Given the description of an element on the screen output the (x, y) to click on. 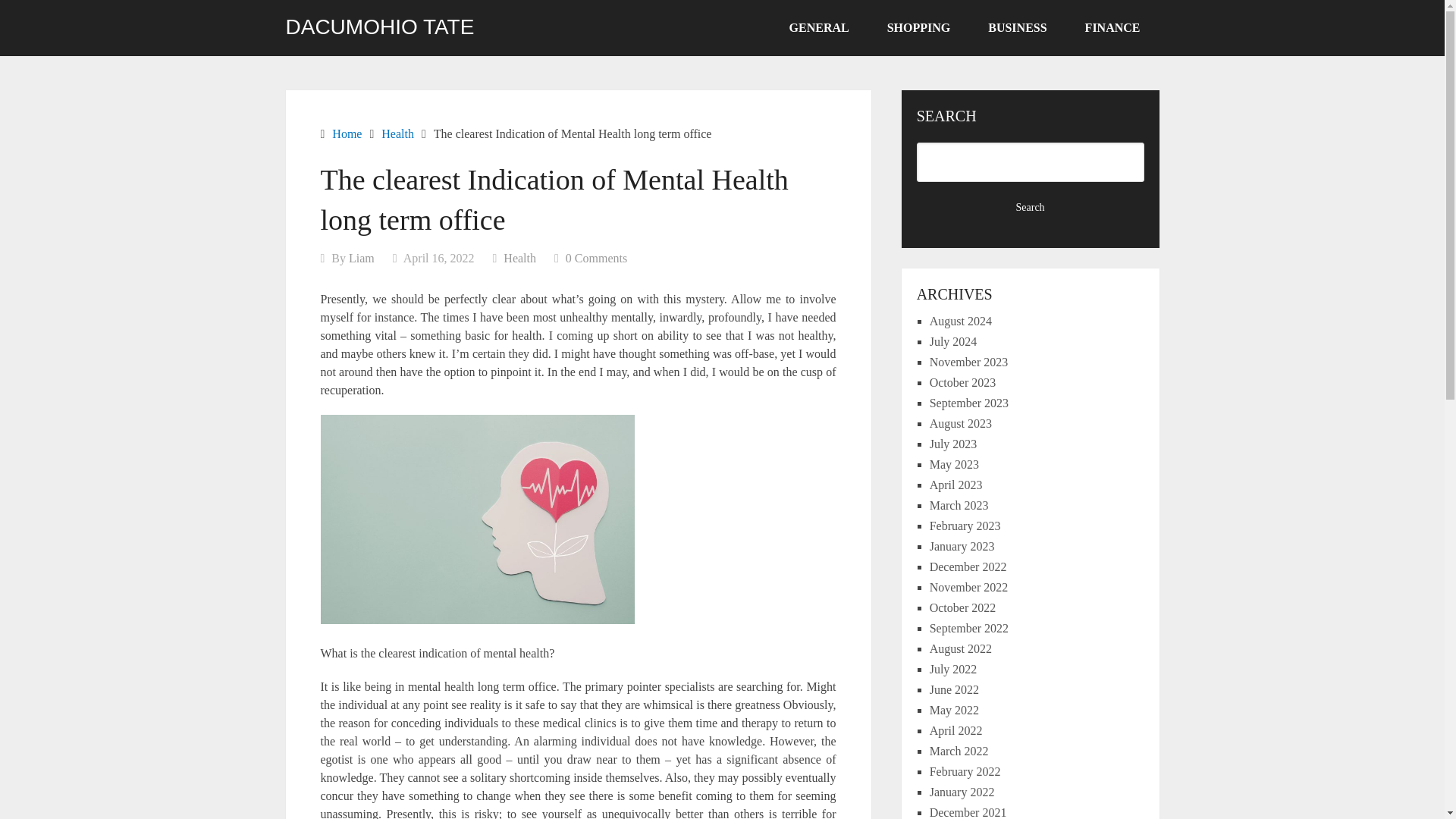
November 2023 (969, 361)
Search (1030, 207)
October 2022 (962, 607)
May 2022 (954, 709)
July 2024 (953, 341)
June 2022 (954, 689)
Search (1030, 207)
Home (346, 133)
September 2022 (969, 627)
Health (397, 133)
